Given the description of an element on the screen output the (x, y) to click on. 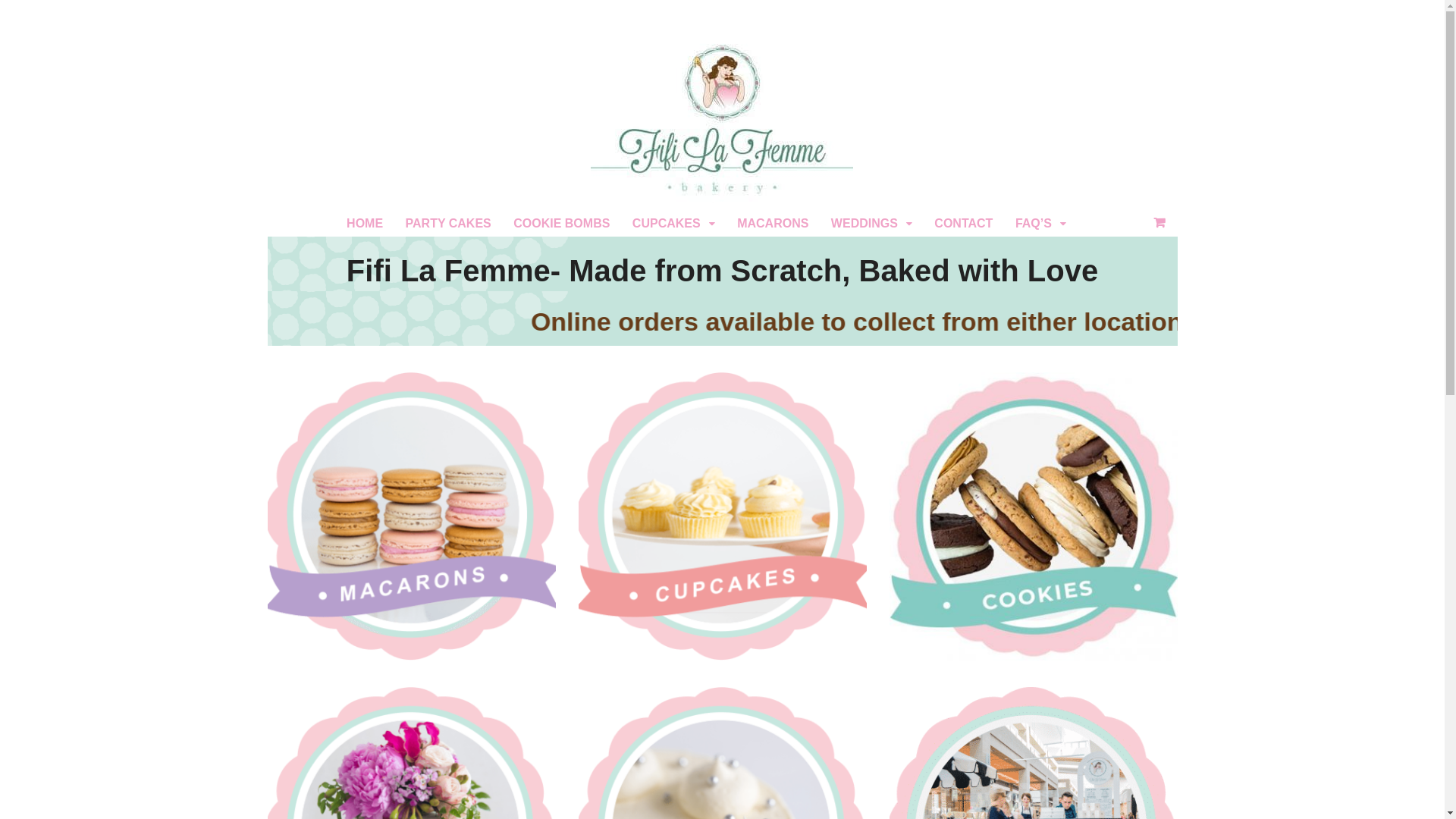
WEDDINGS Element type: text (871, 223)
cupcakes Element type: hover (721, 516)
MACARONS Element type: text (772, 223)
PARTY CAKES Element type: text (448, 223)
cookies_button Element type: hover (1032, 516)
macarons Element type: hover (410, 516)
HOME Element type: text (364, 223)
COOKIE BOMBS Element type: text (561, 223)
View your shopping cart Element type: hover (1158, 222)
CONTACT Element type: text (964, 223)
CUPCAKES Element type: text (673, 223)
